Given the description of an element on the screen output the (x, y) to click on. 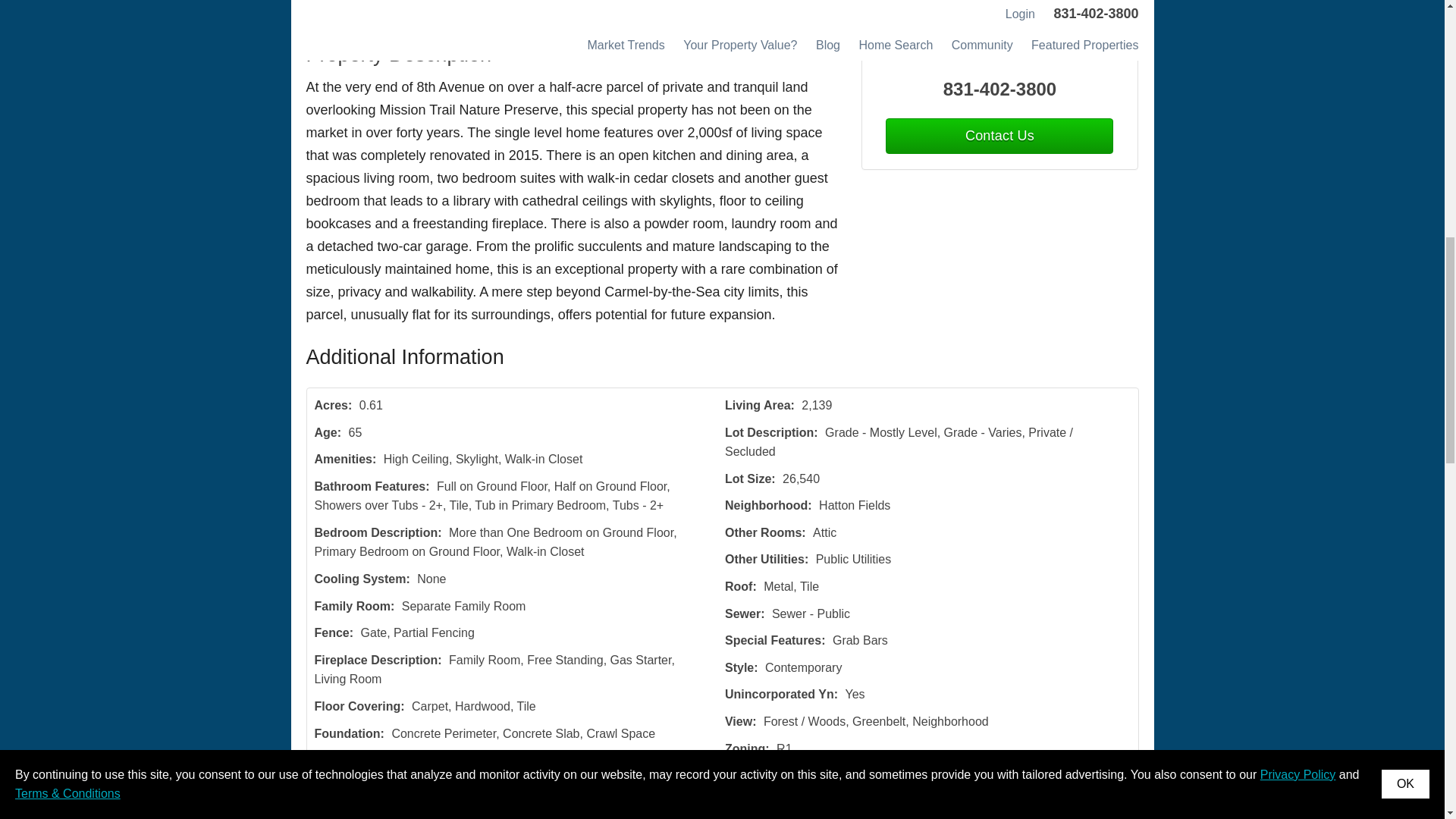
Contact Us (362, 11)
View on Map (515, 11)
Contact Us (999, 135)
Share (591, 11)
Call Us (436, 11)
831-402-3800 (999, 89)
New Search (1085, 11)
